Given the description of an element on the screen output the (x, y) to click on. 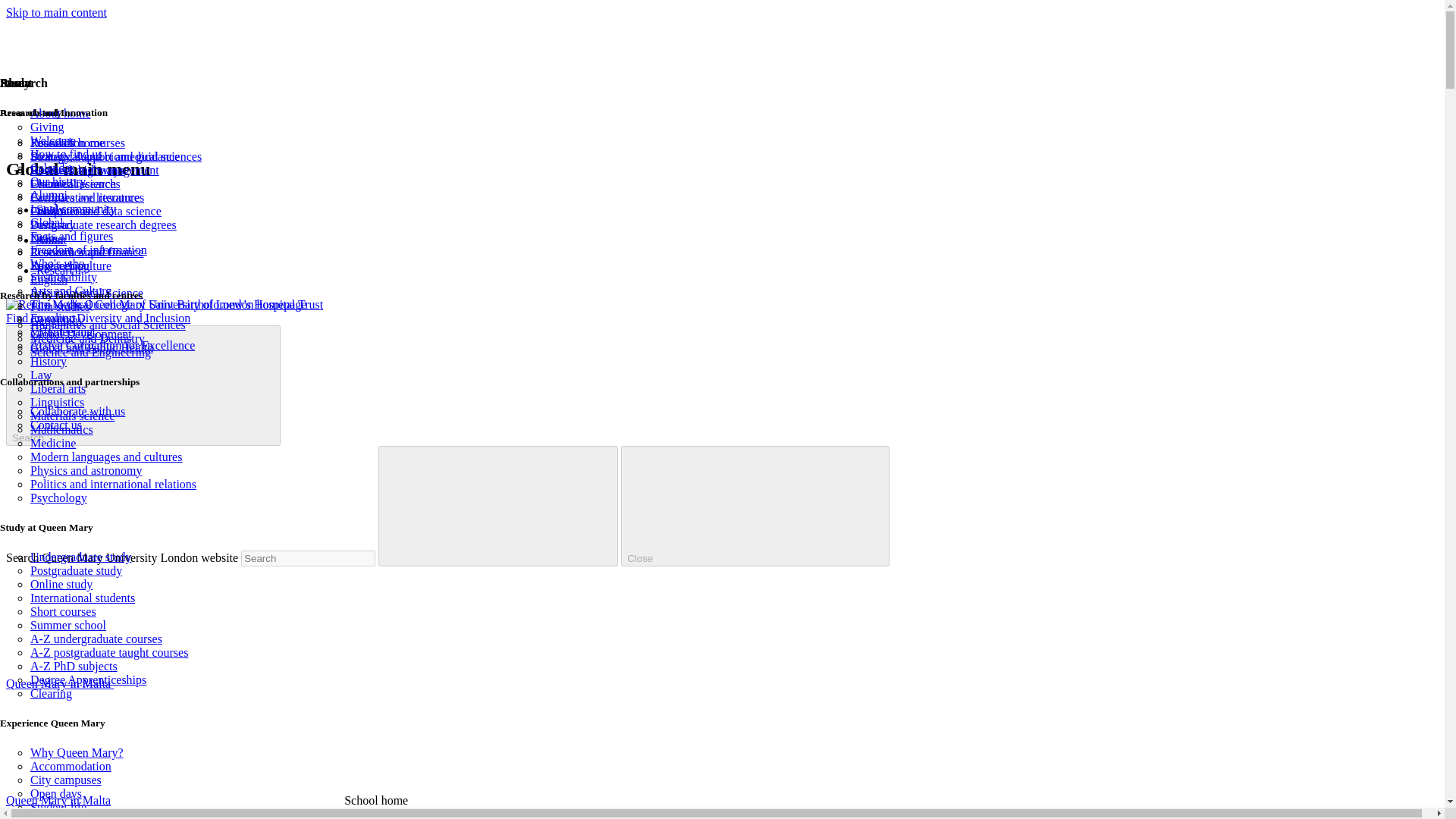
Short courses (63, 611)
Film studies (60, 306)
Geography (57, 319)
Undergraduate study (80, 556)
Materials science (72, 415)
Postgraduate study (76, 570)
Economics and finance (86, 251)
Short courses (63, 611)
A-Z postgraduate taught courses (108, 652)
Modern languages and cultures (106, 456)
Computer and data science (95, 210)
Foundation courses (77, 142)
Medicine (52, 442)
Politics and international relations (113, 483)
Linguistics (57, 401)
